Given the description of an element on the screen output the (x, y) to click on. 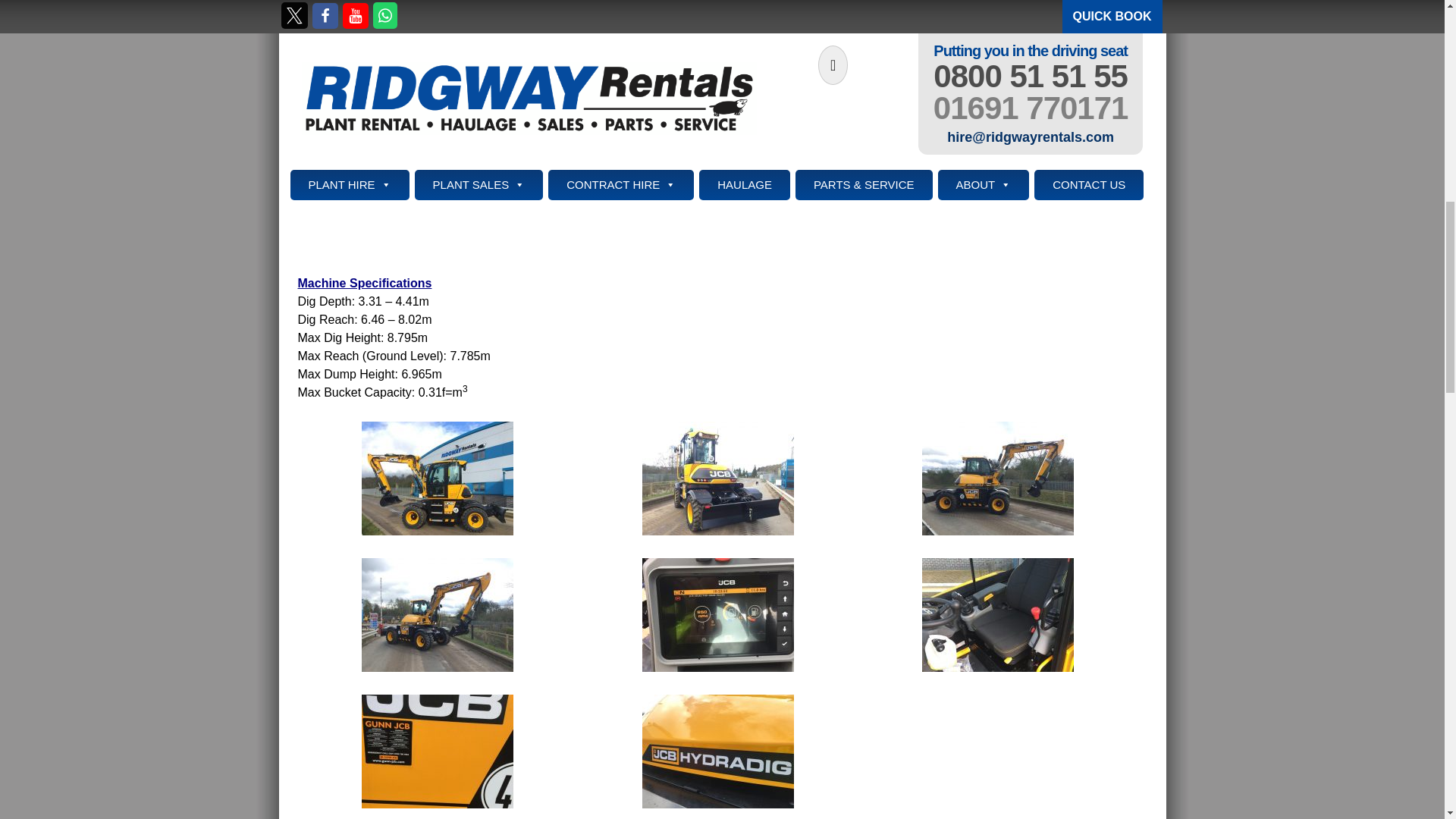
Hydradig Hire 6 (717, 613)
Hydradig Hire 7 (997, 613)
Hydradig Hire 8 (437, 749)
Hydradig Hire 1 (437, 477)
Hydradig Hire 3 (717, 477)
Hydradig Hire 4 (997, 477)
Hydradig Hire 5 (437, 613)
Hydradig Hire 9 (717, 749)
